Given the description of an element on the screen output the (x, y) to click on. 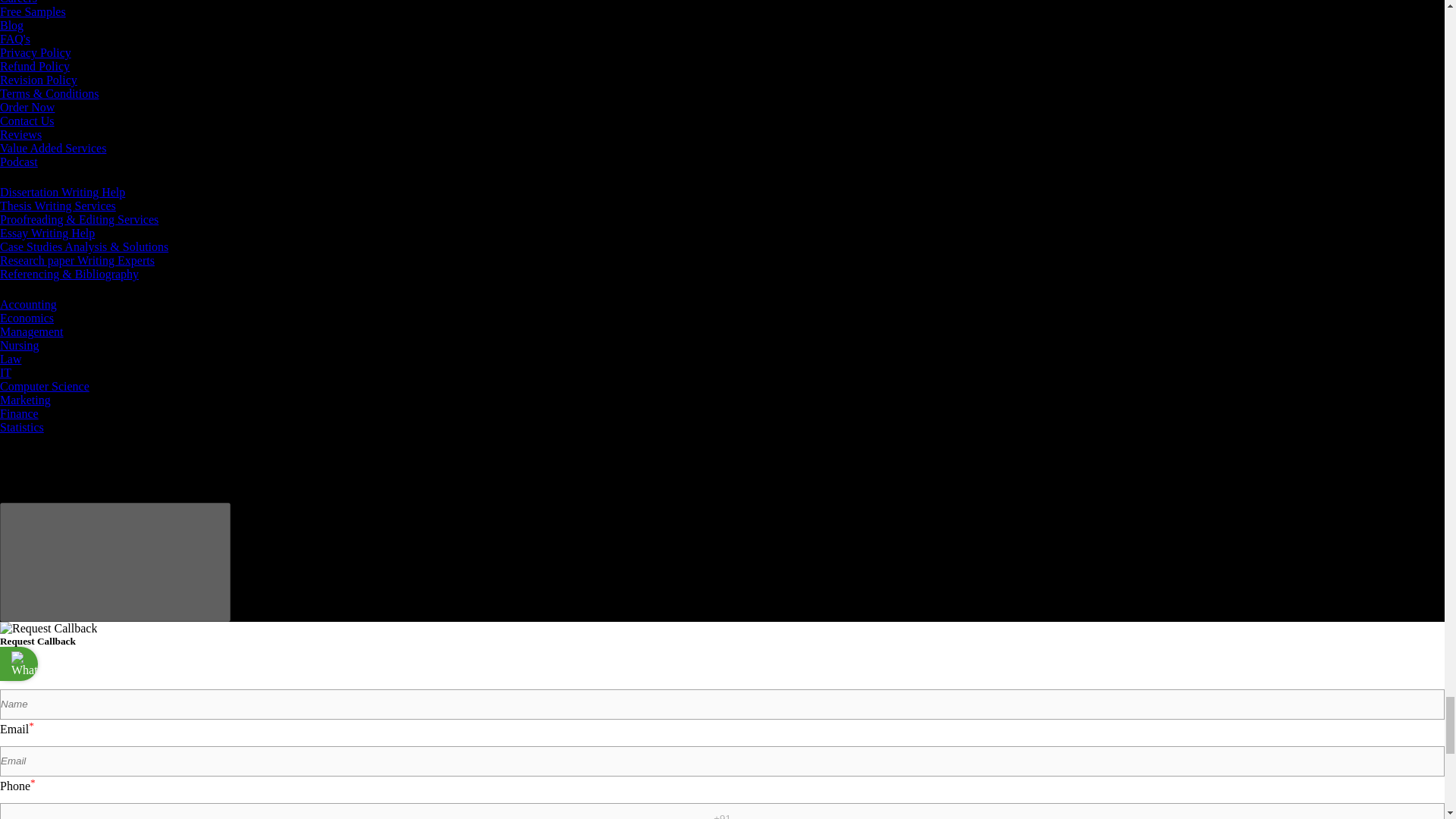
Go to top (115, 561)
